Given the description of an element on the screen output the (x, y) to click on. 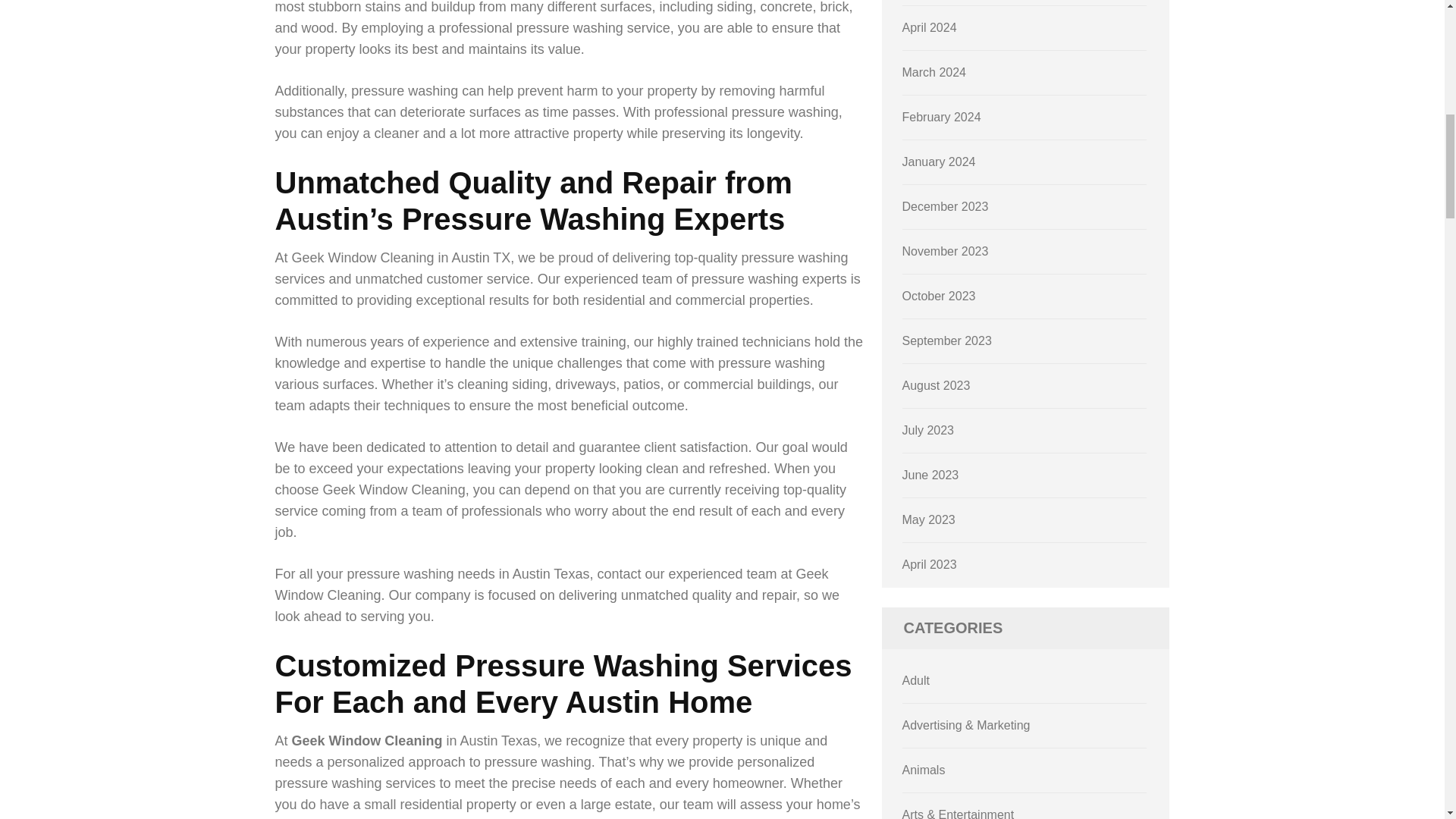
July 2023 (928, 430)
Adult (916, 680)
February 2024 (941, 116)
April 2024 (929, 27)
September 2023 (946, 340)
June 2023 (930, 474)
November 2023 (945, 250)
May 2023 (928, 519)
December 2023 (945, 205)
March 2024 (934, 72)
August 2023 (936, 385)
April 2023 (929, 563)
January 2024 (938, 161)
October 2023 (938, 295)
